Given the description of an element on the screen output the (x, y) to click on. 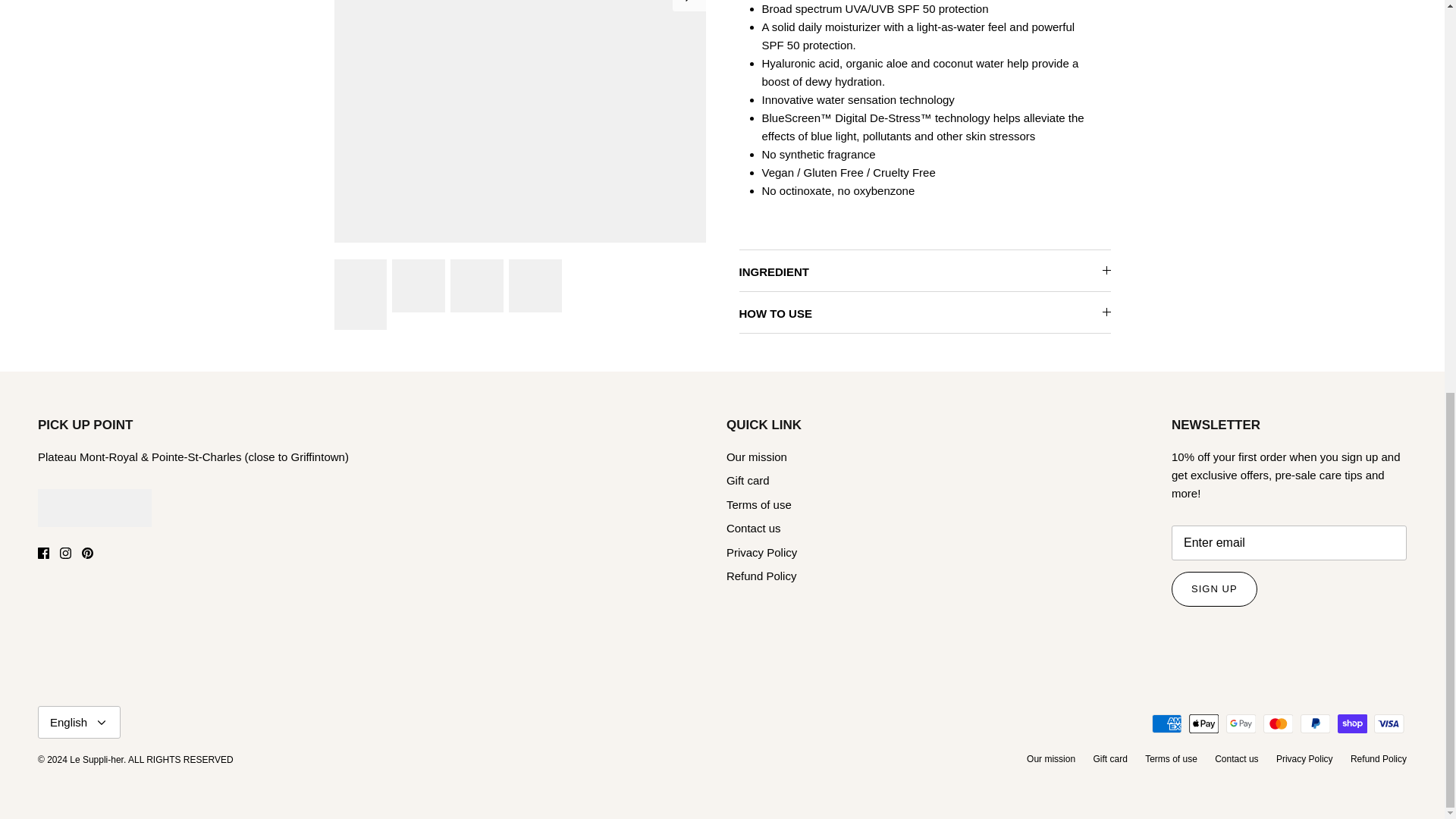
Facebook (43, 552)
Google Pay (1240, 723)
Mastercard (1277, 723)
PayPal (1315, 723)
Down (100, 722)
American Express (1166, 723)
Instagram (65, 552)
Shop Pay (1352, 723)
Visa (1388, 723)
Pinterest (87, 552)
